Given the description of an element on the screen output the (x, y) to click on. 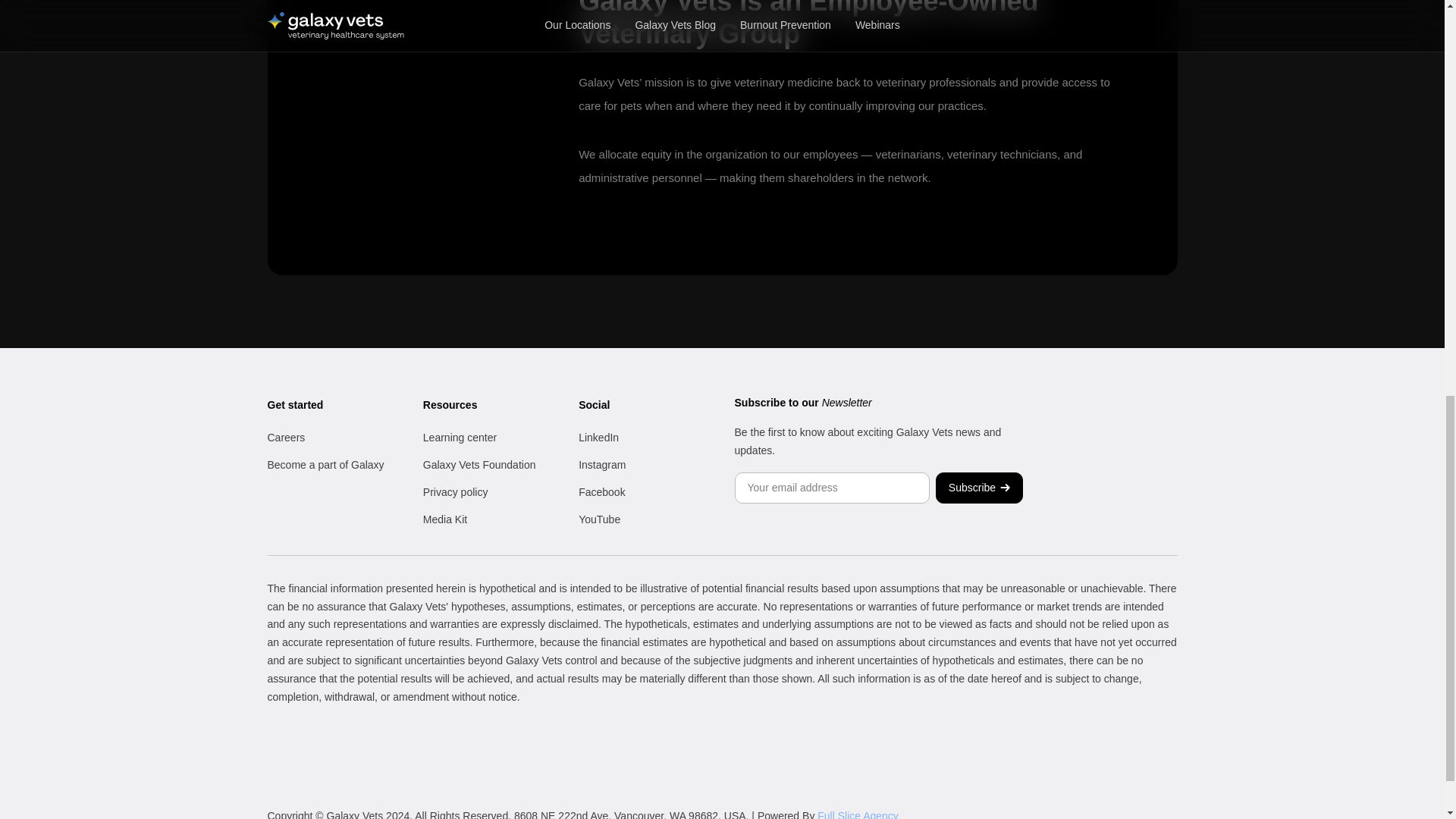
Learning center (459, 437)
Galaxy Vets Foundation (479, 464)
Facebook (601, 491)
Privacy policy (455, 491)
Careers (285, 437)
Become a part of Galaxy (325, 464)
Instagram (602, 464)
Full Slice Agency (857, 814)
LinkedIn (598, 437)
YouTube (599, 519)
